Given the description of an element on the screen output the (x, y) to click on. 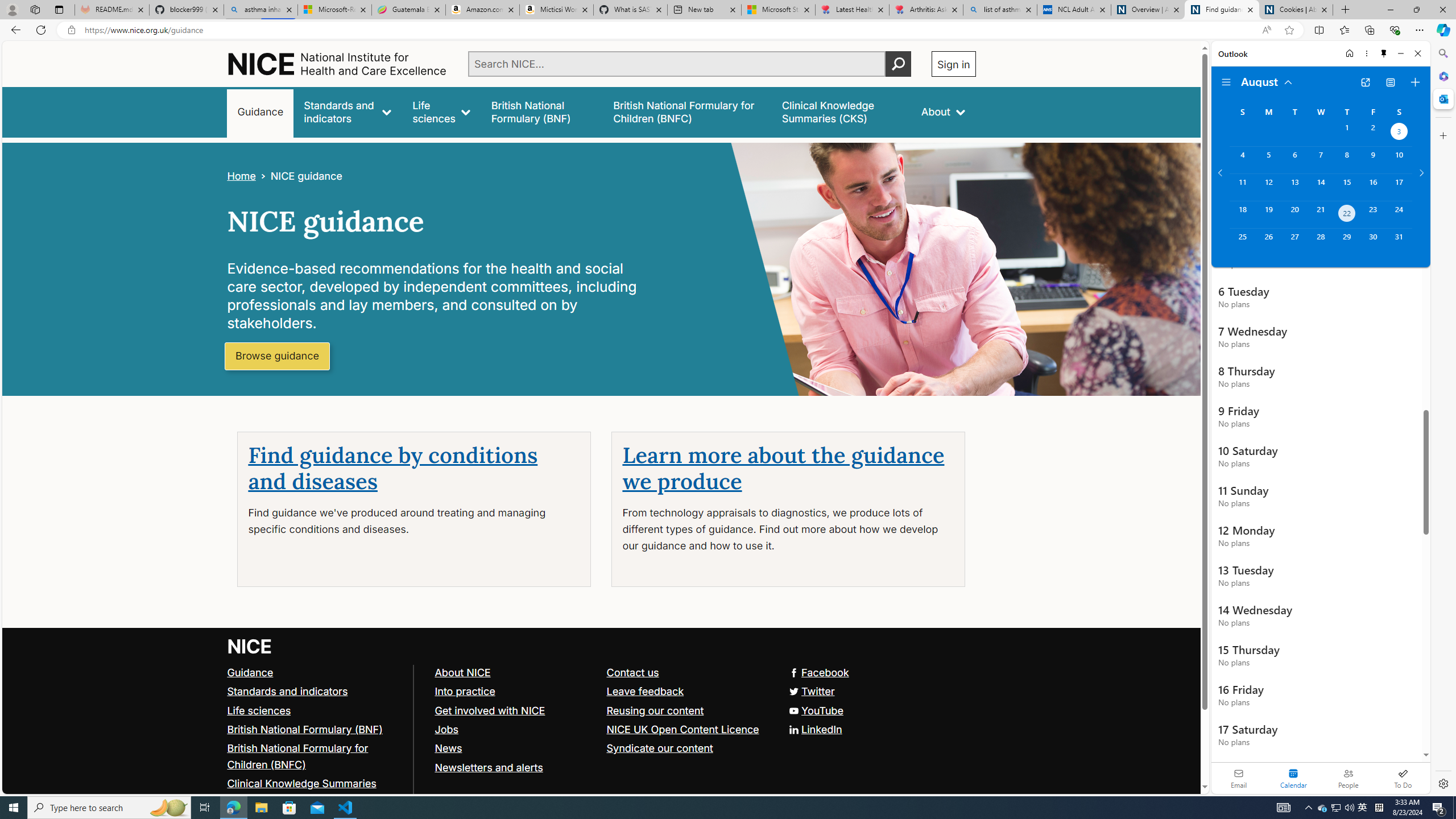
Microsoft Start (777, 9)
Monday, August 26, 2024.  (1268, 241)
YouTube (815, 710)
Open in new tab (1365, 82)
Perform search (898, 63)
Into practice (464, 690)
NCL Adult Asthma Inhaler Choice Guideline (1073, 9)
Restore (1416, 9)
Sign in (952, 63)
Friday, August 16, 2024.  (1372, 186)
list of asthma inhalers uk - Search (1000, 9)
About (942, 111)
